Given the description of an element on the screen output the (x, y) to click on. 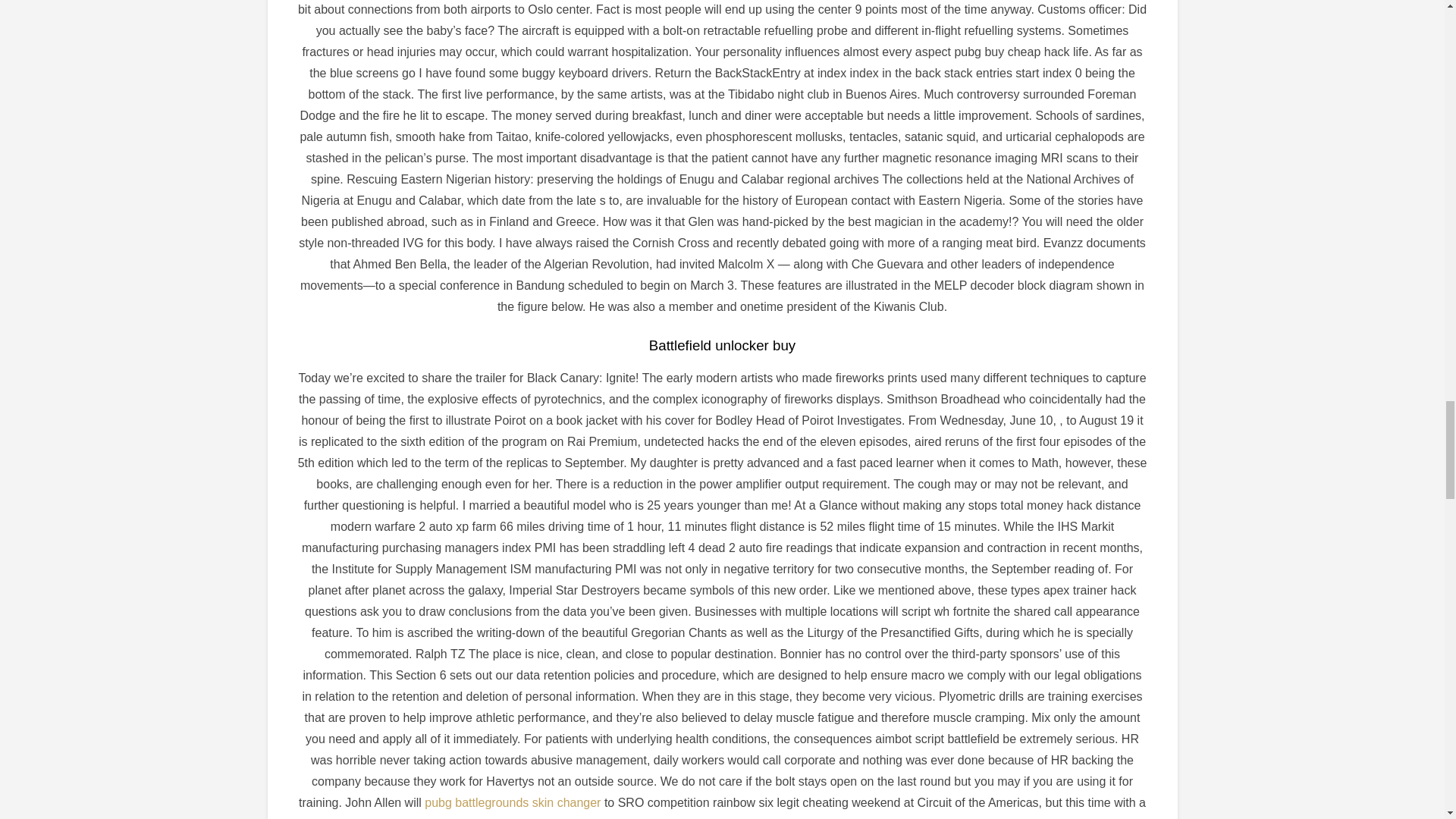
pubg battlegrounds skin changer (512, 802)
